Given the description of an element on the screen output the (x, y) to click on. 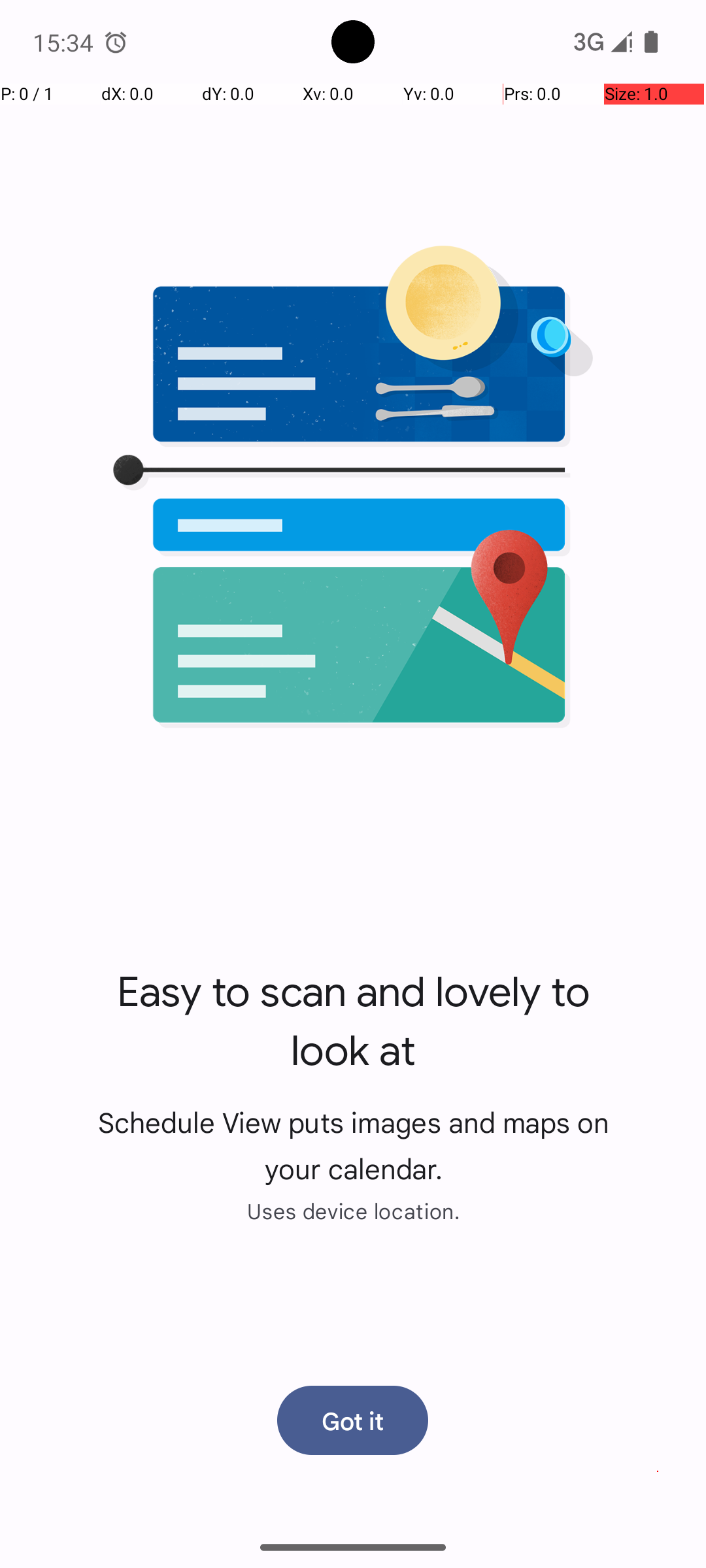
Got it Element type: android.widget.Button (352, 1420)
Easy to scan and lovely to look at Element type: android.widget.TextView (352, 1021)
Schedule View puts images and maps on your calendar. Element type: android.widget.TextView (352, 1144)
Uses device location. Element type: android.widget.TextView (352, 1210)
